Given the description of an element on the screen output the (x, y) to click on. 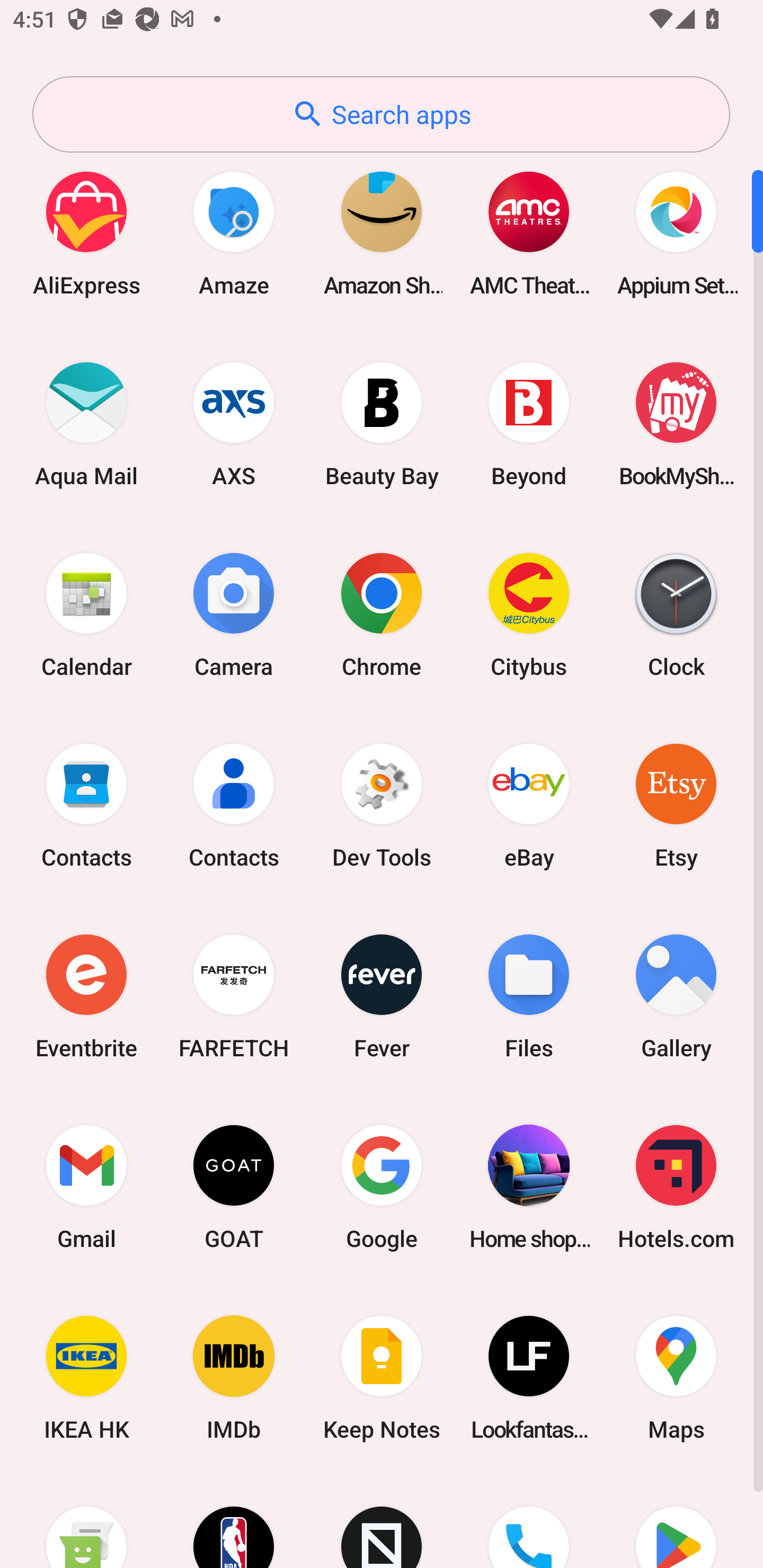
  Search apps (381, 114)
AliExpress (86, 233)
Amaze (233, 233)
Amazon Shopping (381, 233)
AMC Theatres (528, 233)
Appium Settings (676, 233)
Aqua Mail (86, 424)
AXS (233, 424)
Beauty Bay (381, 424)
Beyond (528, 424)
BookMyShow (676, 424)
Calendar (86, 614)
Camera (233, 614)
Chrome (381, 614)
Citybus (528, 614)
Clock (676, 614)
Contacts (86, 805)
Contacts (233, 805)
Dev Tools (381, 805)
eBay (528, 805)
Etsy (676, 805)
Eventbrite (86, 996)
FARFETCH (233, 996)
Fever (381, 996)
Files (528, 996)
Gallery (676, 996)
Gmail (86, 1186)
GOAT (233, 1186)
Google (381, 1186)
Home shopping (528, 1186)
Hotels.com (676, 1186)
IKEA HK (86, 1377)
IMDb (233, 1377)
Keep Notes (381, 1377)
Lookfantastic (528, 1377)
Maps (676, 1377)
Messaging (86, 1520)
NBA (233, 1520)
Novelship (381, 1520)
Phone (528, 1520)
Play Store (676, 1520)
